Given the description of an element on the screen output the (x, y) to click on. 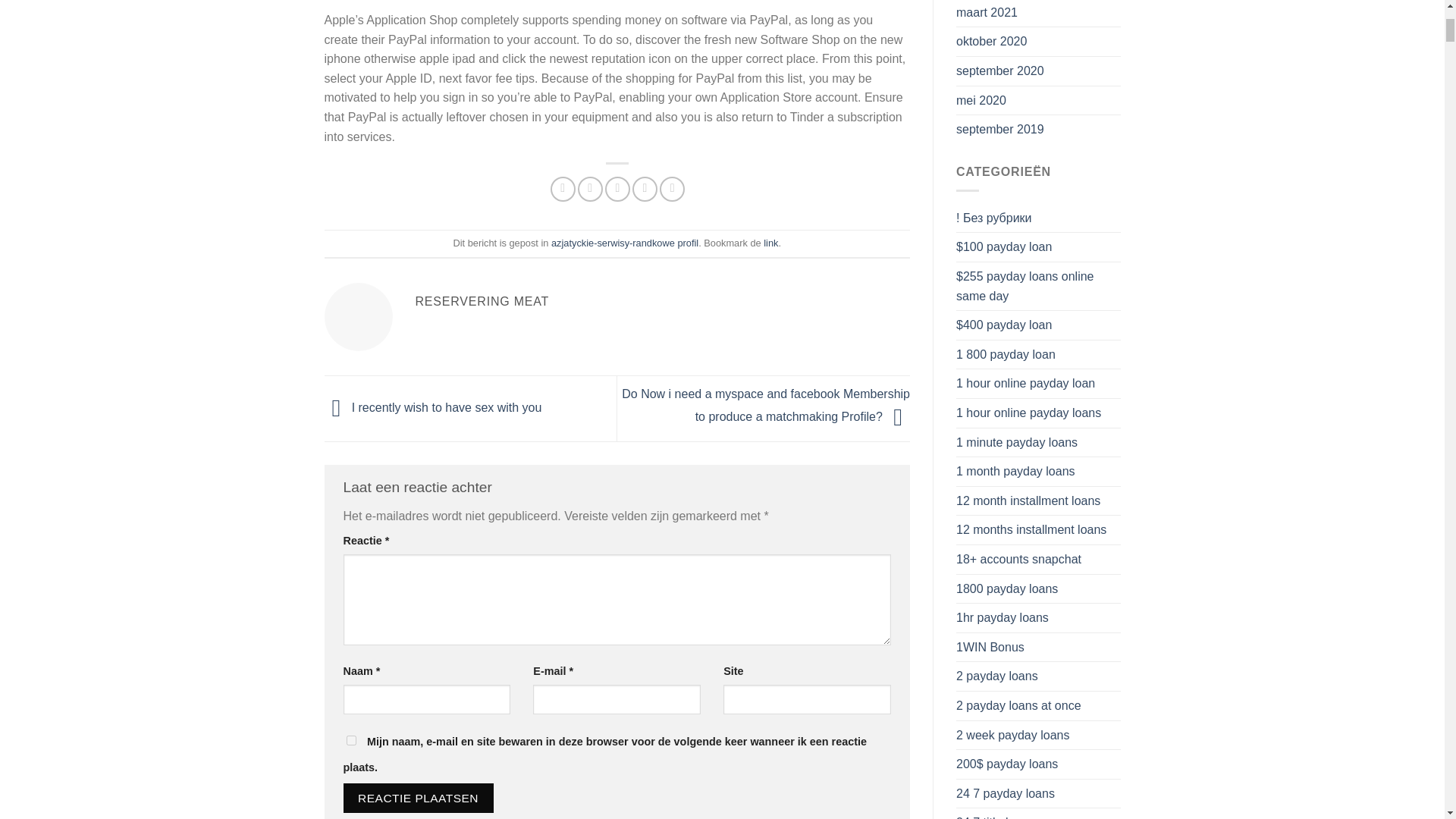
Deel op Twitter (590, 188)
Share on LinkedIn (671, 188)
Stuur door naar een vriend (617, 188)
Reactie plaatsen (417, 797)
Deel op Facebook (562, 188)
Reactie plaatsen (417, 797)
link (769, 242)
azjatyckie-serwisy-randkowe profil (624, 242)
Purchasing Tinder And otherwise Tinder Gold (769, 242)
